Given the description of an element on the screen output the (x, y) to click on. 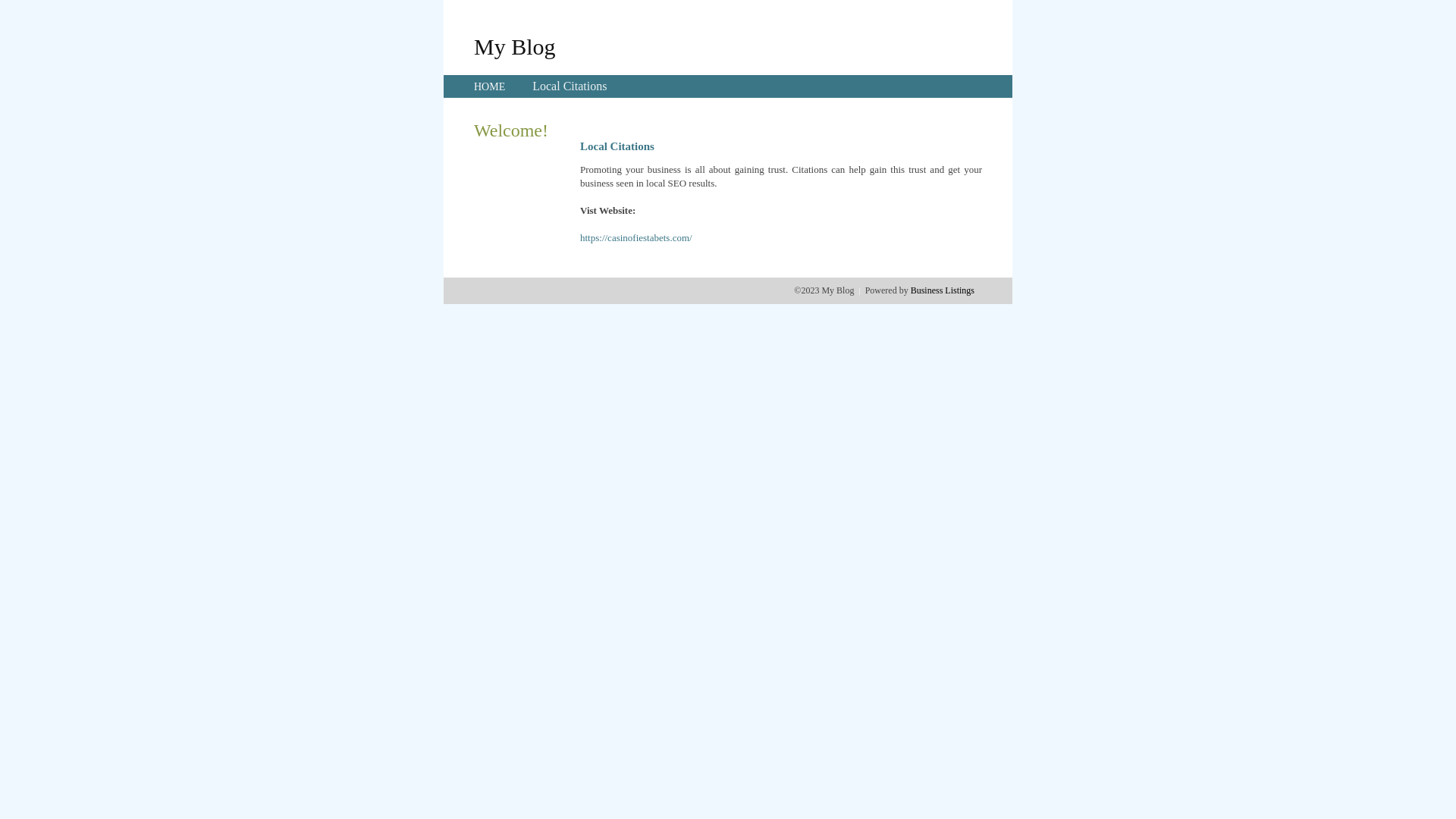
HOME Element type: text (489, 86)
https://casinofiestabets.com/ Element type: text (636, 237)
Business Listings Element type: text (942, 290)
My Blog Element type: text (514, 46)
Local Citations Element type: text (569, 85)
